Given the description of an element on the screen output the (x, y) to click on. 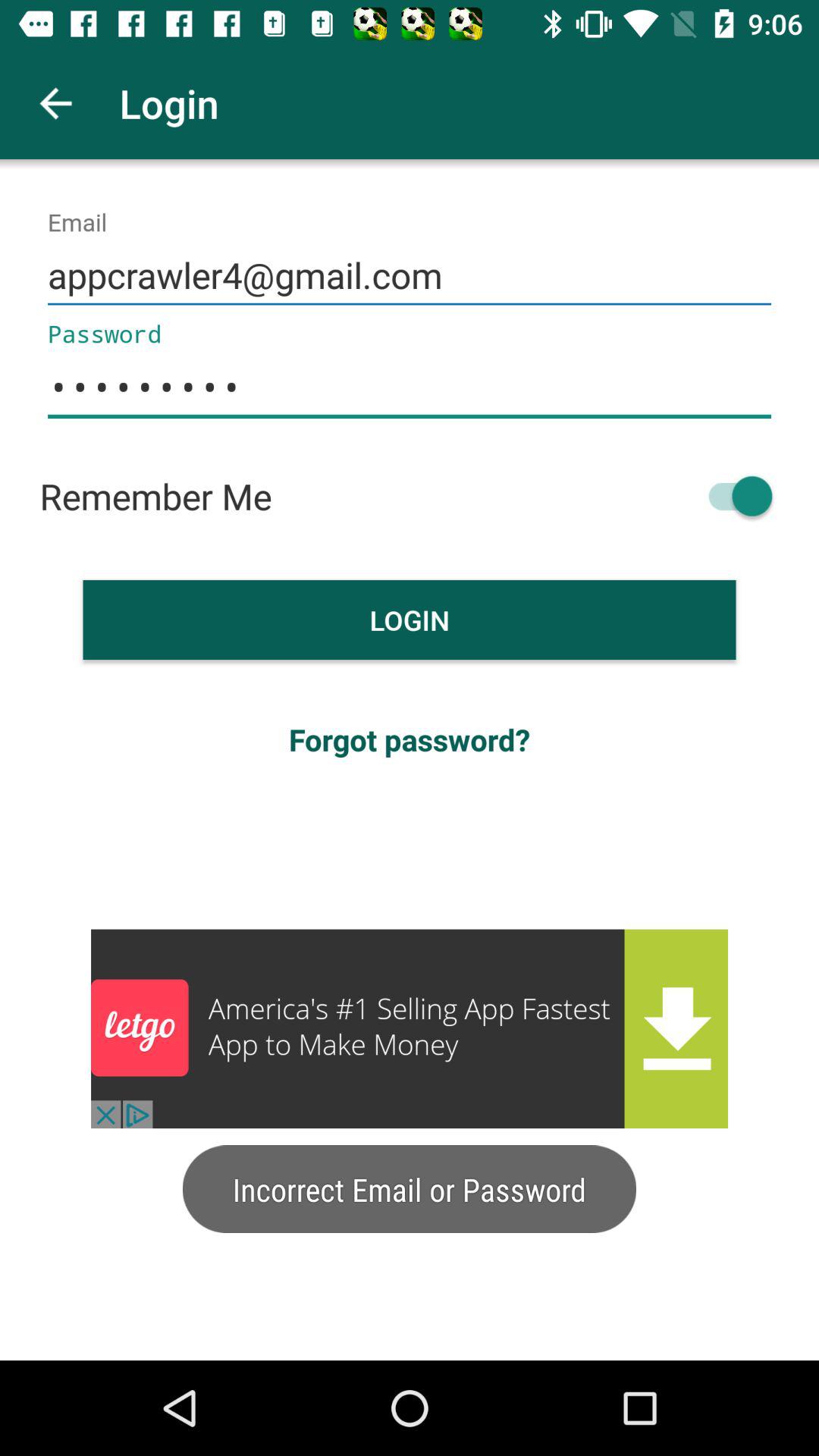
announcement (409, 1028)
